Given the description of an element on the screen output the (x, y) to click on. 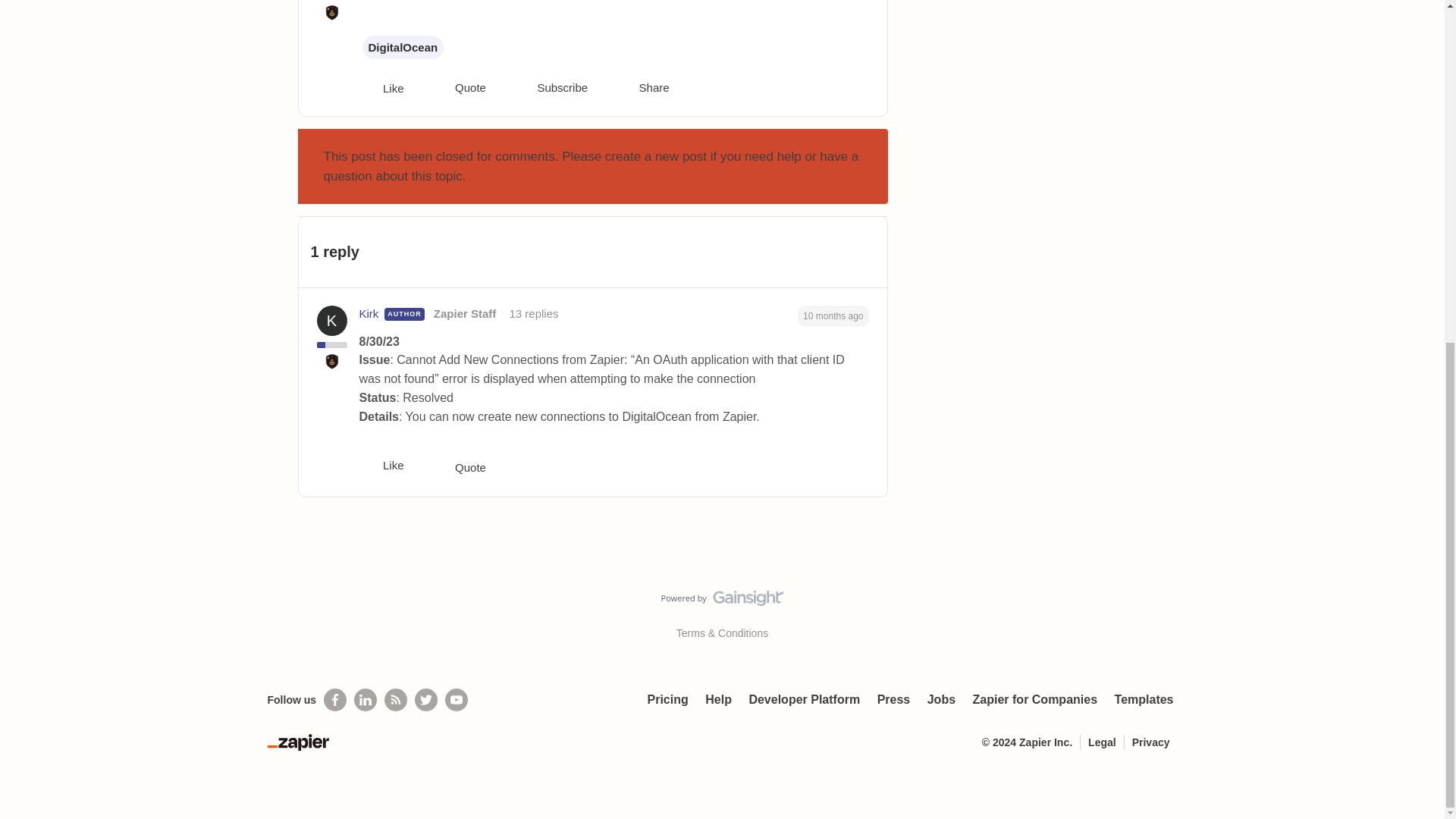
Subscribe to our blog (395, 699)
Zapier Staff (464, 313)
See helpful Zapier videos on Youtube (456, 699)
Follow us on LinkedIn (365, 699)
Visit Gainsight.com (722, 601)
Follow us on Facebook (334, 699)
